Given the description of an element on the screen output the (x, y) to click on. 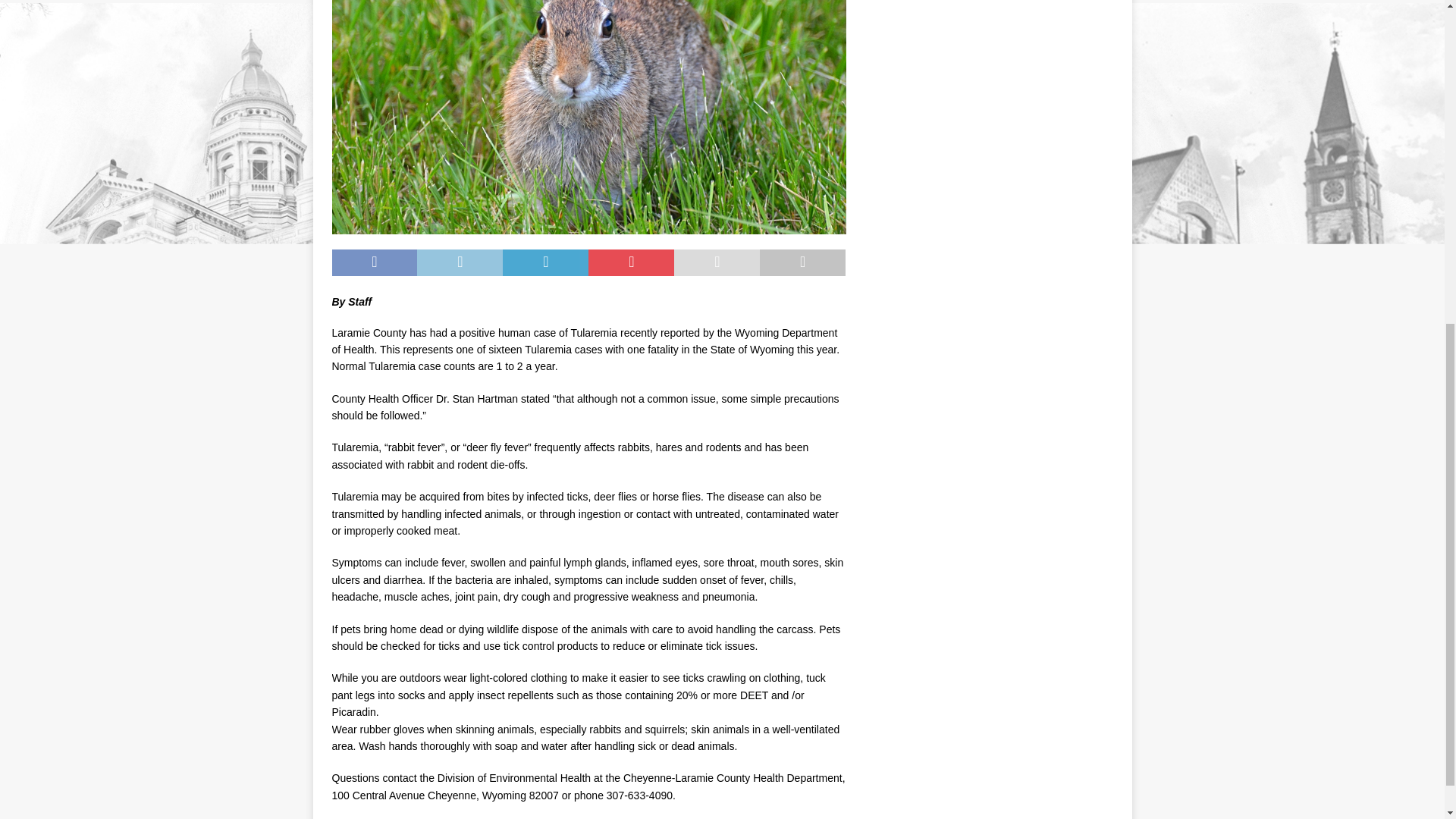
bunny (588, 117)
